Given the description of an element on the screen output the (x, y) to click on. 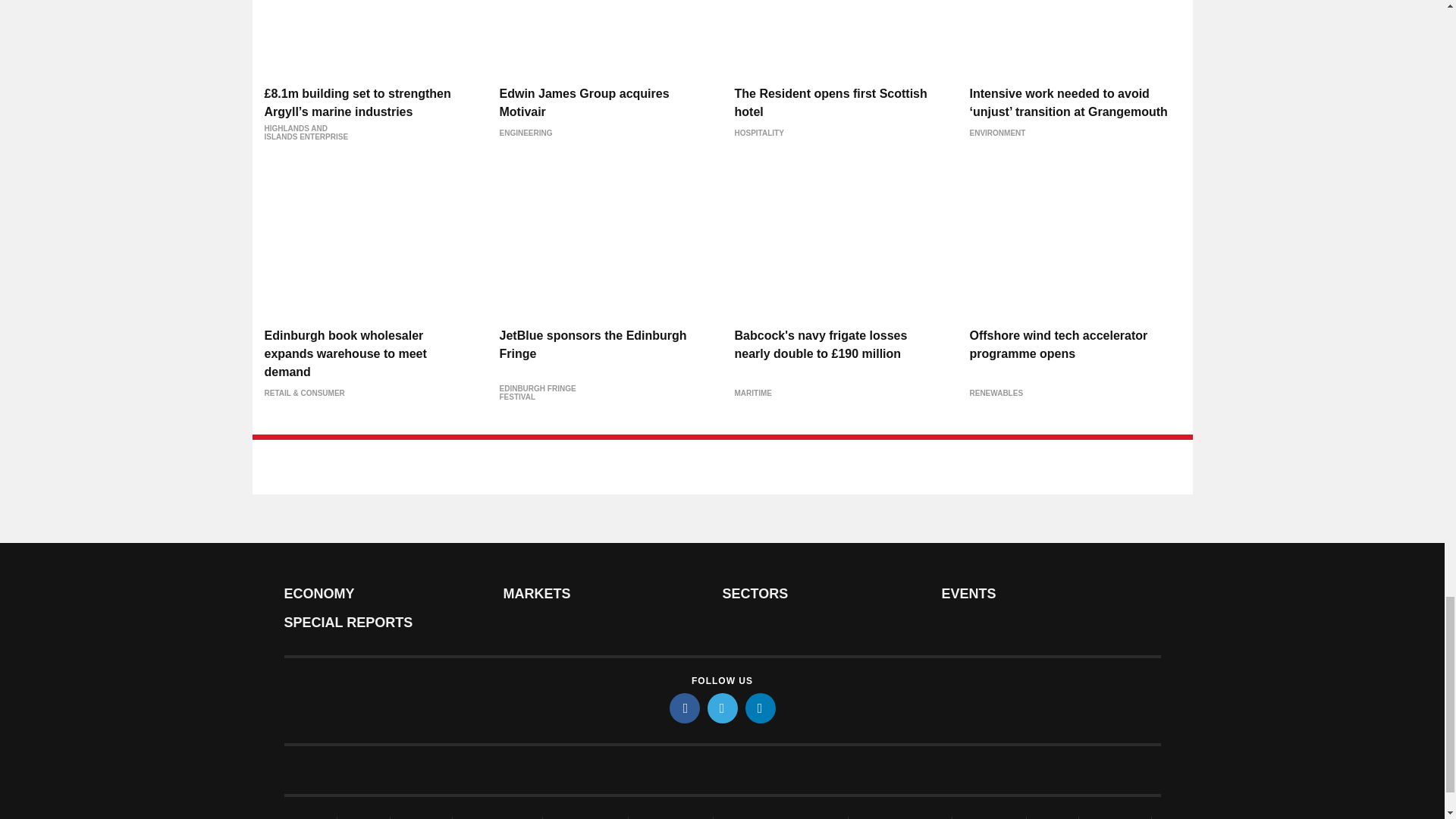
linkedin (759, 707)
facebook (683, 707)
twitter (721, 707)
